Given the description of an element on the screen output the (x, y) to click on. 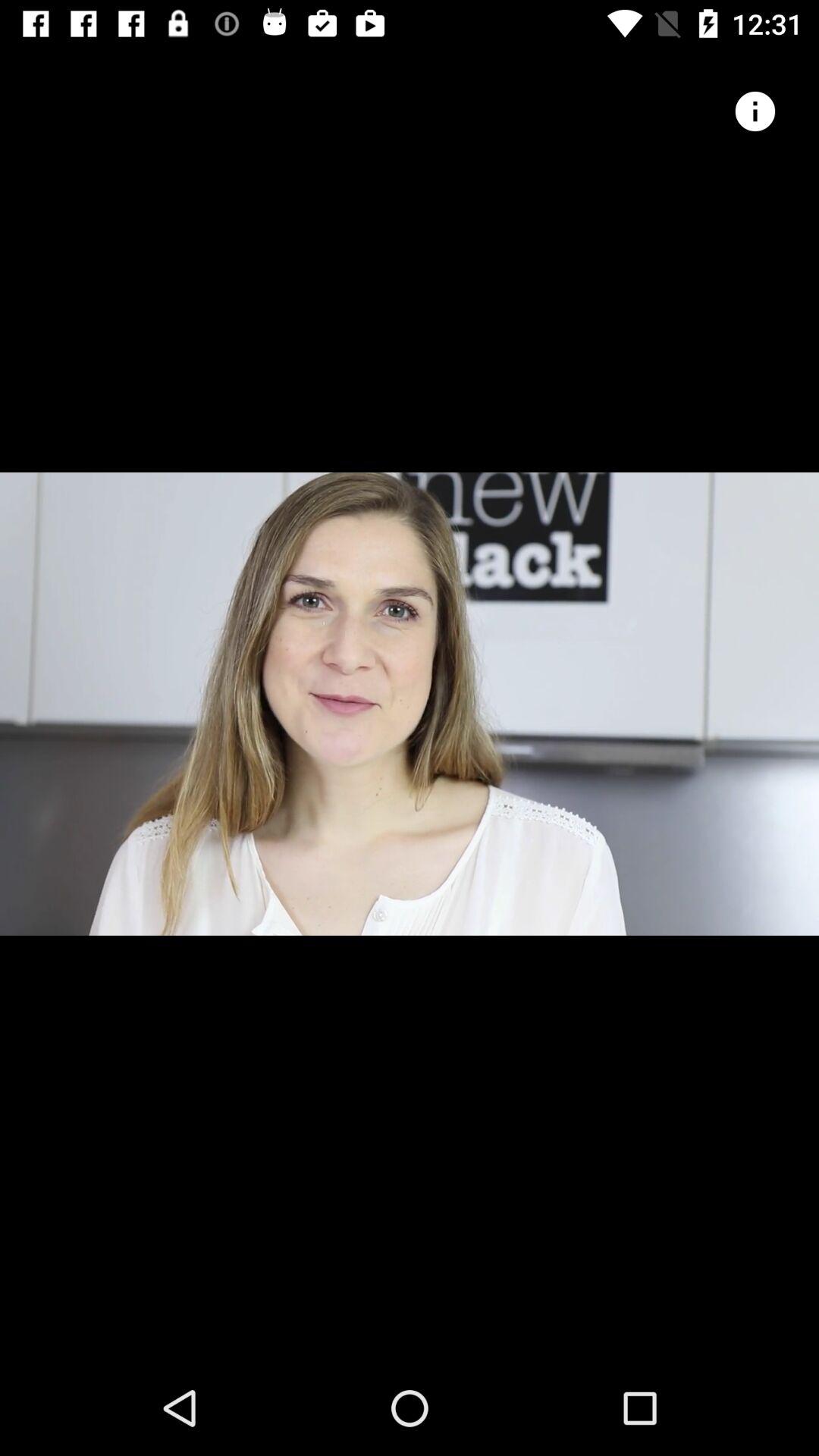
menu page (755, 111)
